Given the description of an element on the screen output the (x, y) to click on. 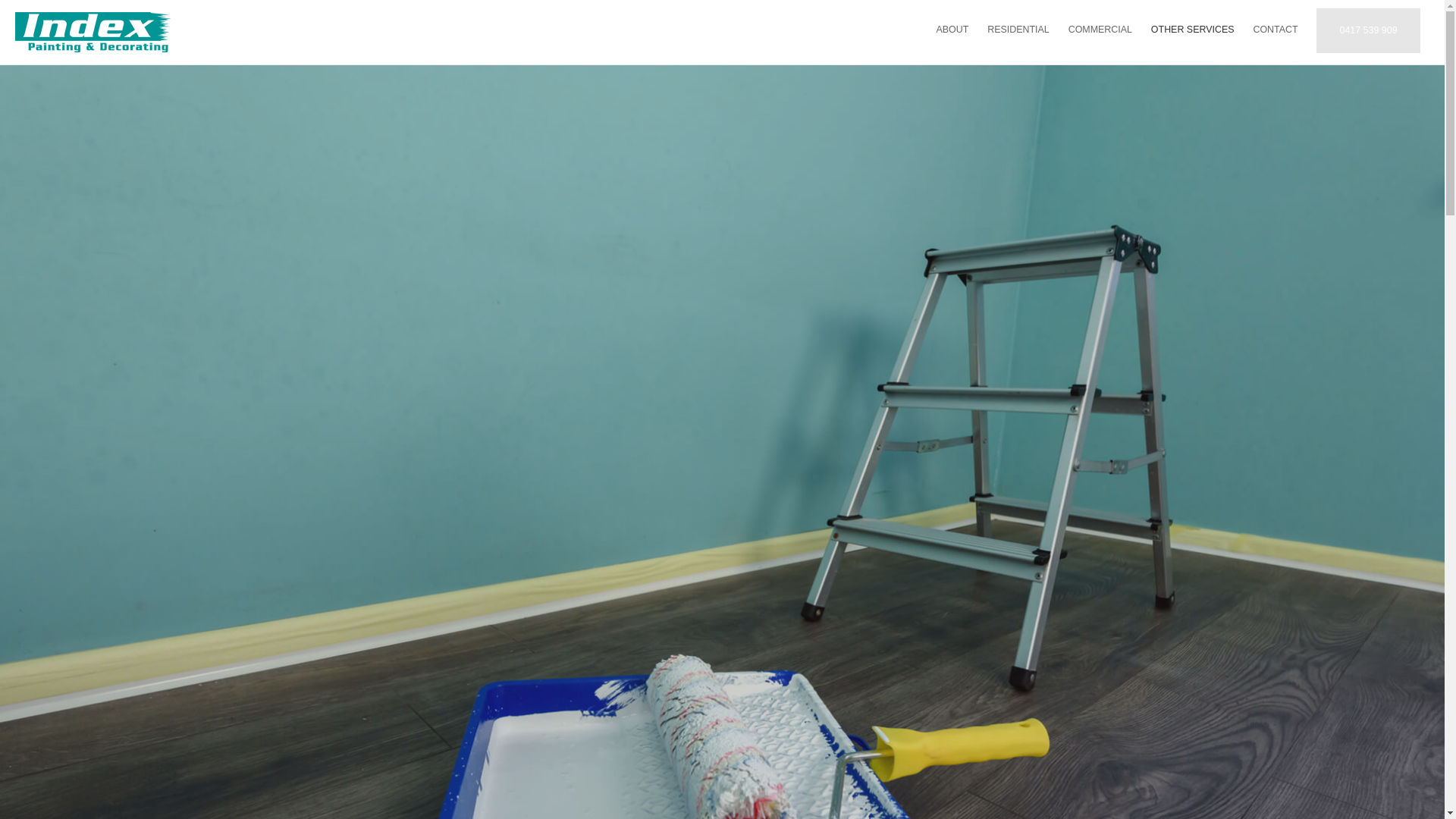
COMMERCIAL (1099, 29)
OTHER SERVICES (1192, 29)
CONTACT (1275, 29)
RESIDENTIAL (1018, 29)
0417 539 909 (1367, 29)
ABOUT (952, 29)
